Given the description of an element on the screen output the (x, y) to click on. 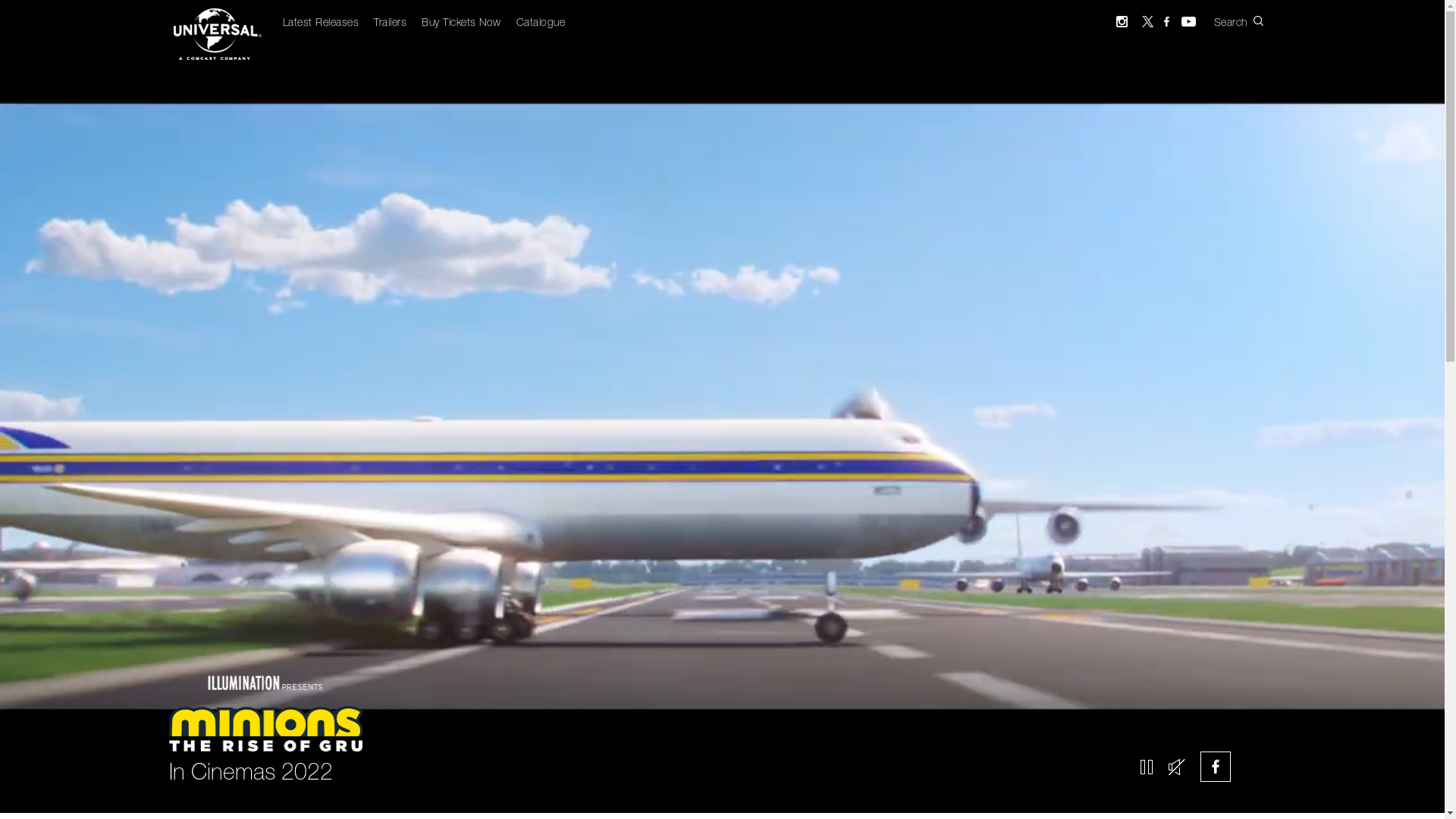
Trailers Element type: text (390, 23)
Search Element type: text (1249, 21)
In Cinemas 2022 Element type: text (721, 731)
Catalogue Element type: text (540, 23)
Latest Releases Element type: text (320, 23)
Buy Tickets Now Element type: text (461, 23)
